Given the description of an element on the screen output the (x, y) to click on. 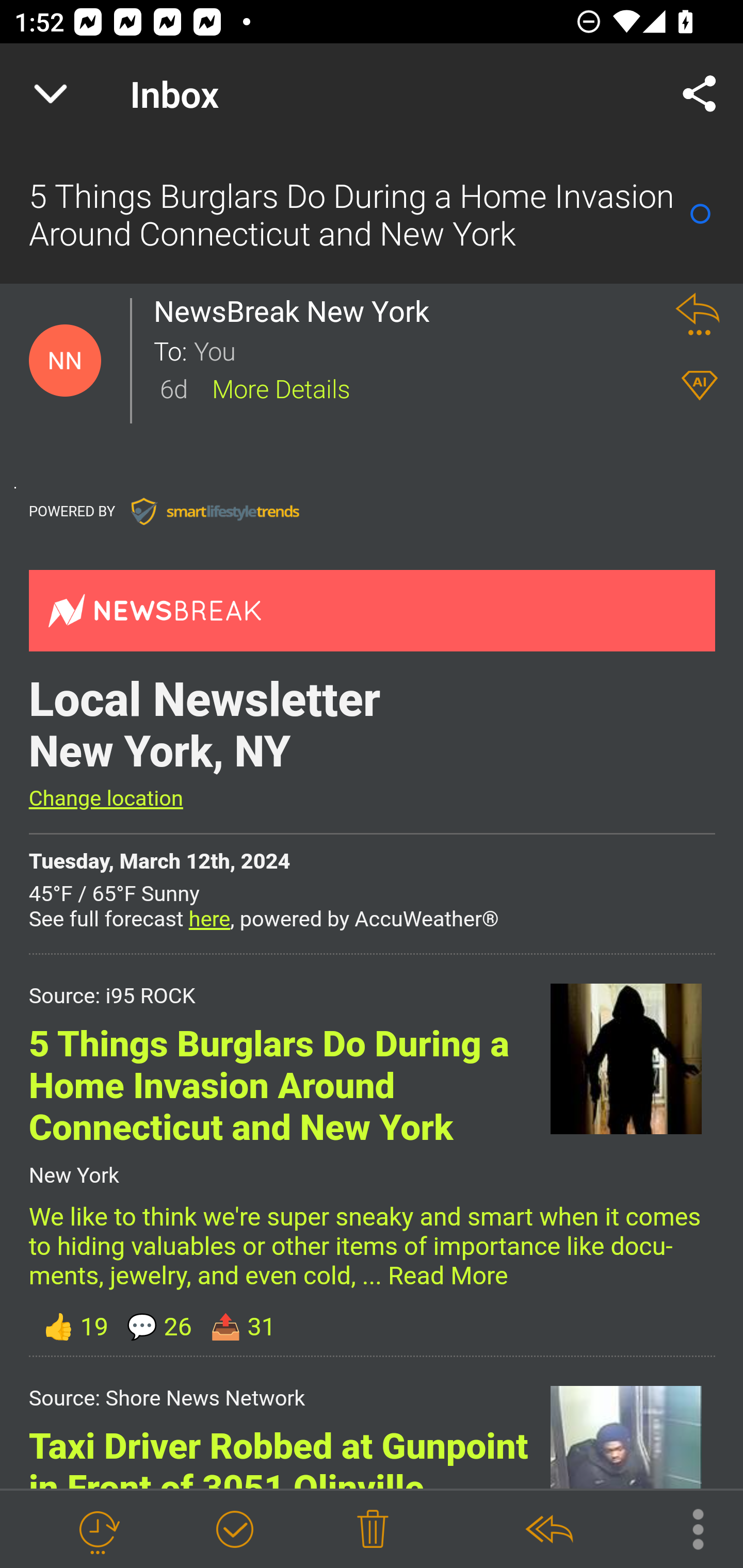
Navigate up (50, 93)
Share (699, 93)
Mark as Read (699, 213)
NewsBreak New York (296, 310)
Contact Details (64, 360)
You (422, 349)
More Details (280, 387)
info (214, 510)
Change location (105, 798)
here (209, 919)
👍 19   💬 26   📤 31 (371, 1326)
More Options (687, 1528)
Snooze (97, 1529)
Mark as Done (234, 1529)
Delete (372, 1529)
Reply All (548, 1529)
